Given the description of an element on the screen output the (x, y) to click on. 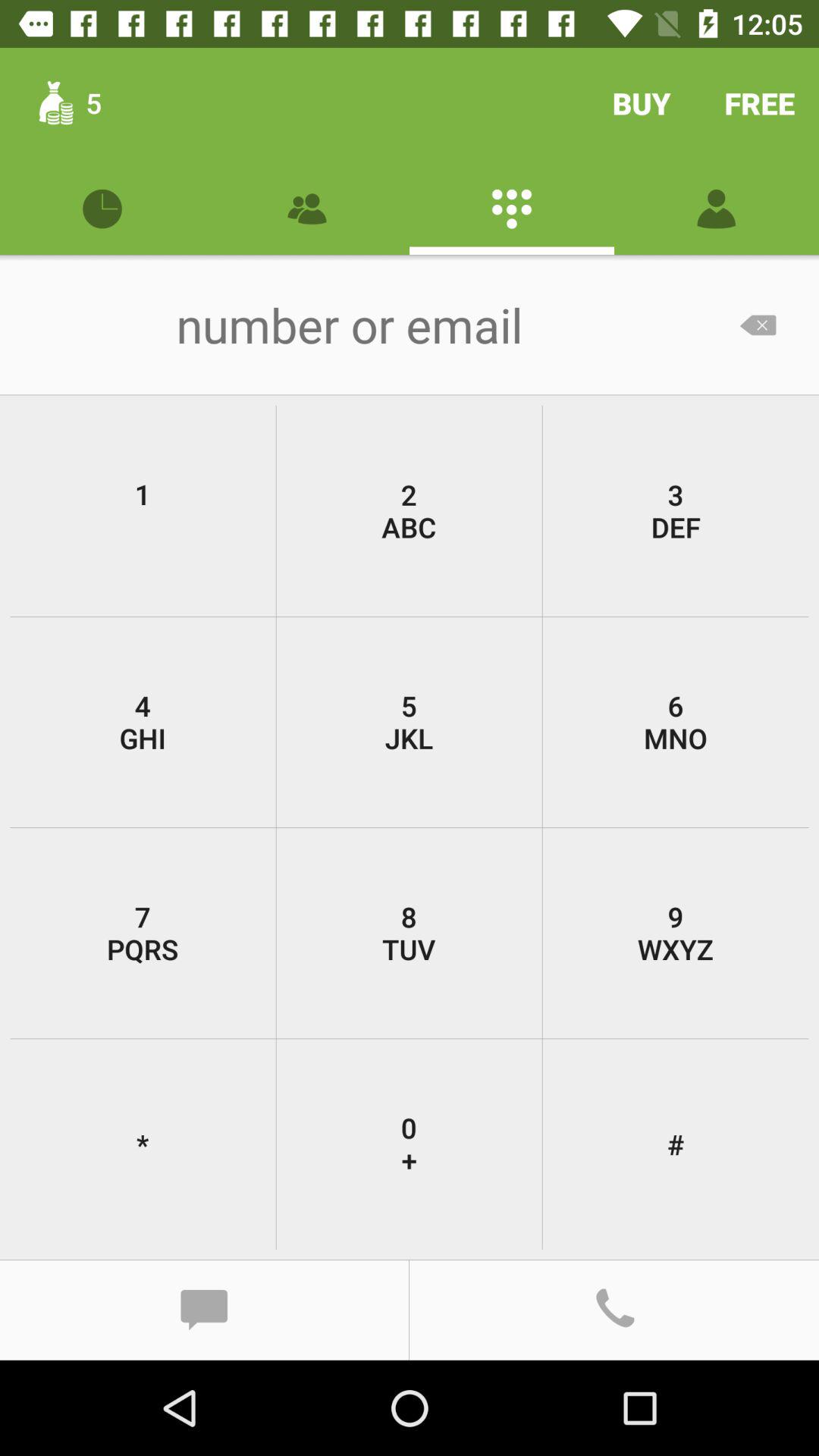
flip until 7
pqrs item (142, 933)
